Given the description of an element on the screen output the (x, y) to click on. 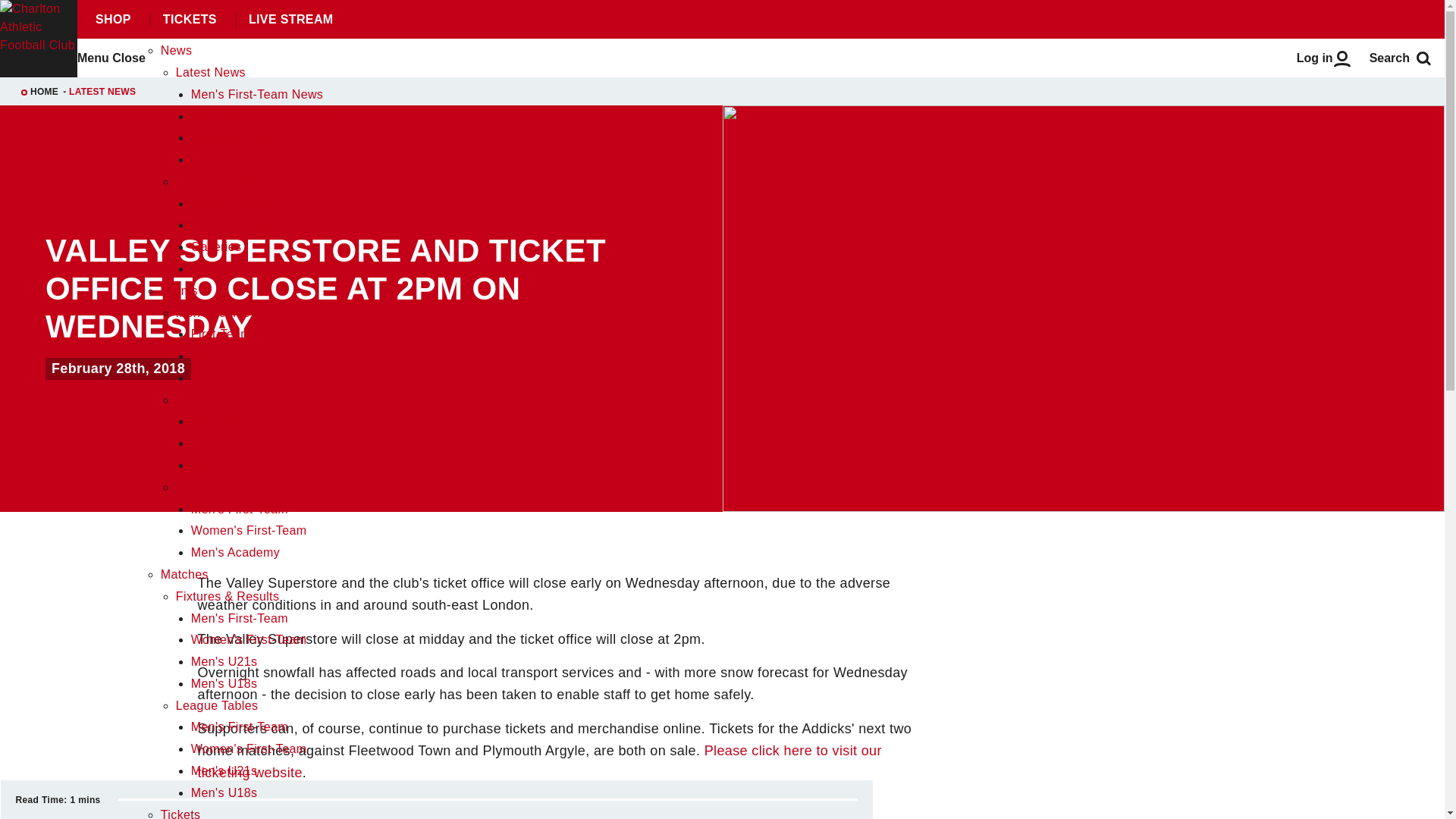
Women's Academy News (261, 159)
Academy (216, 464)
Men's First-Team (239, 508)
Men's U21s (223, 770)
Match Reports (231, 224)
Menu Close (111, 57)
Women's Teams (221, 399)
Men's First-Team News (256, 93)
U21s (205, 442)
First-Team (220, 333)
